Given the description of an element on the screen output the (x, y) to click on. 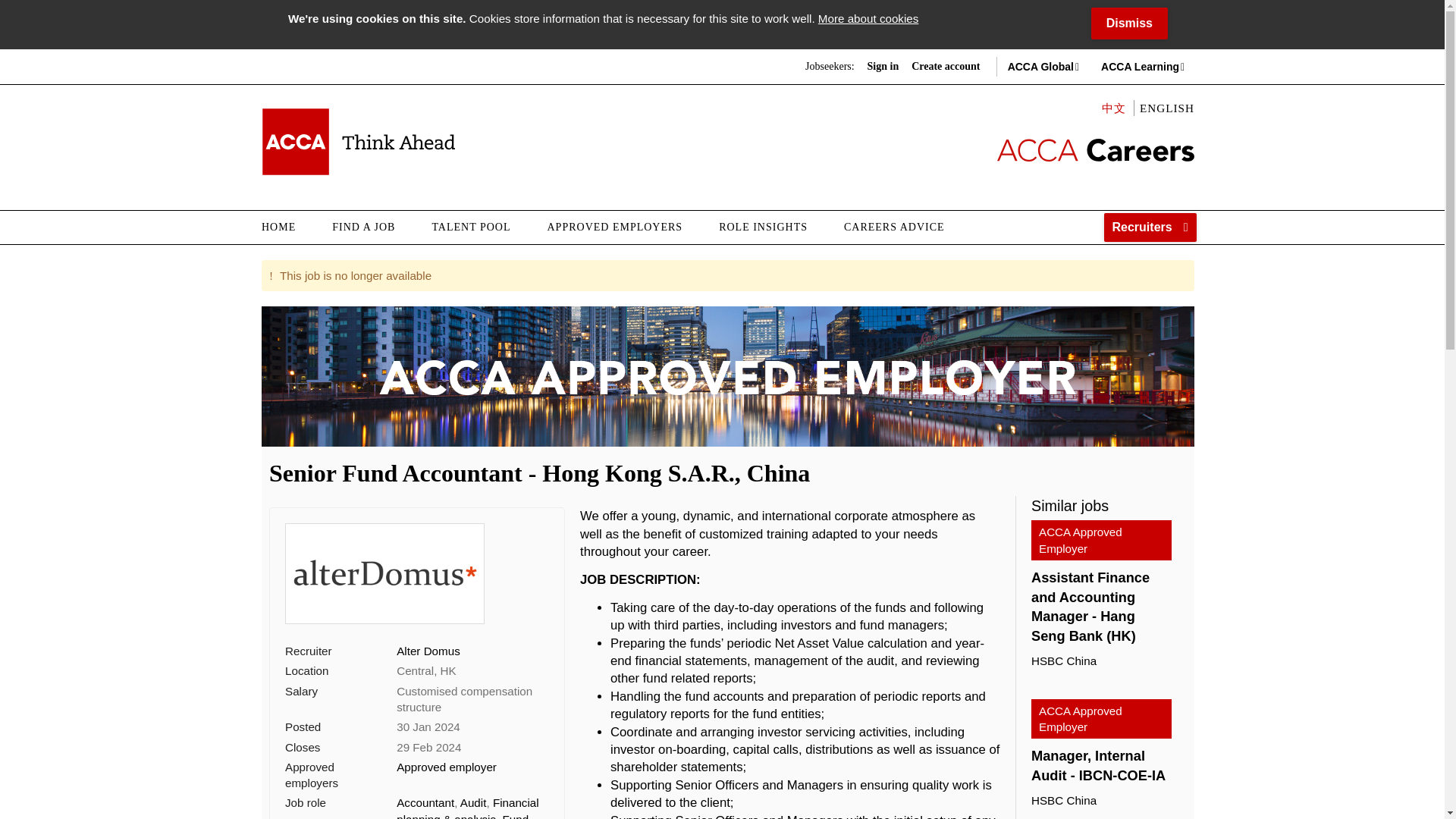
More about cookies (868, 18)
ACCA Learning (1139, 67)
Approved employer (446, 766)
Create account (944, 66)
Recruiters (1149, 226)
Alter Domus (428, 650)
CAREERS ADVICE (893, 227)
FIND A JOB (363, 227)
TALENT POOL (470, 227)
APPROVED EMPLOYERS (615, 227)
Fund accountant (462, 816)
HOME (288, 227)
ACCA Careers (358, 141)
Audit (473, 802)
Sign in (882, 66)
